Given the description of an element on the screen output the (x, y) to click on. 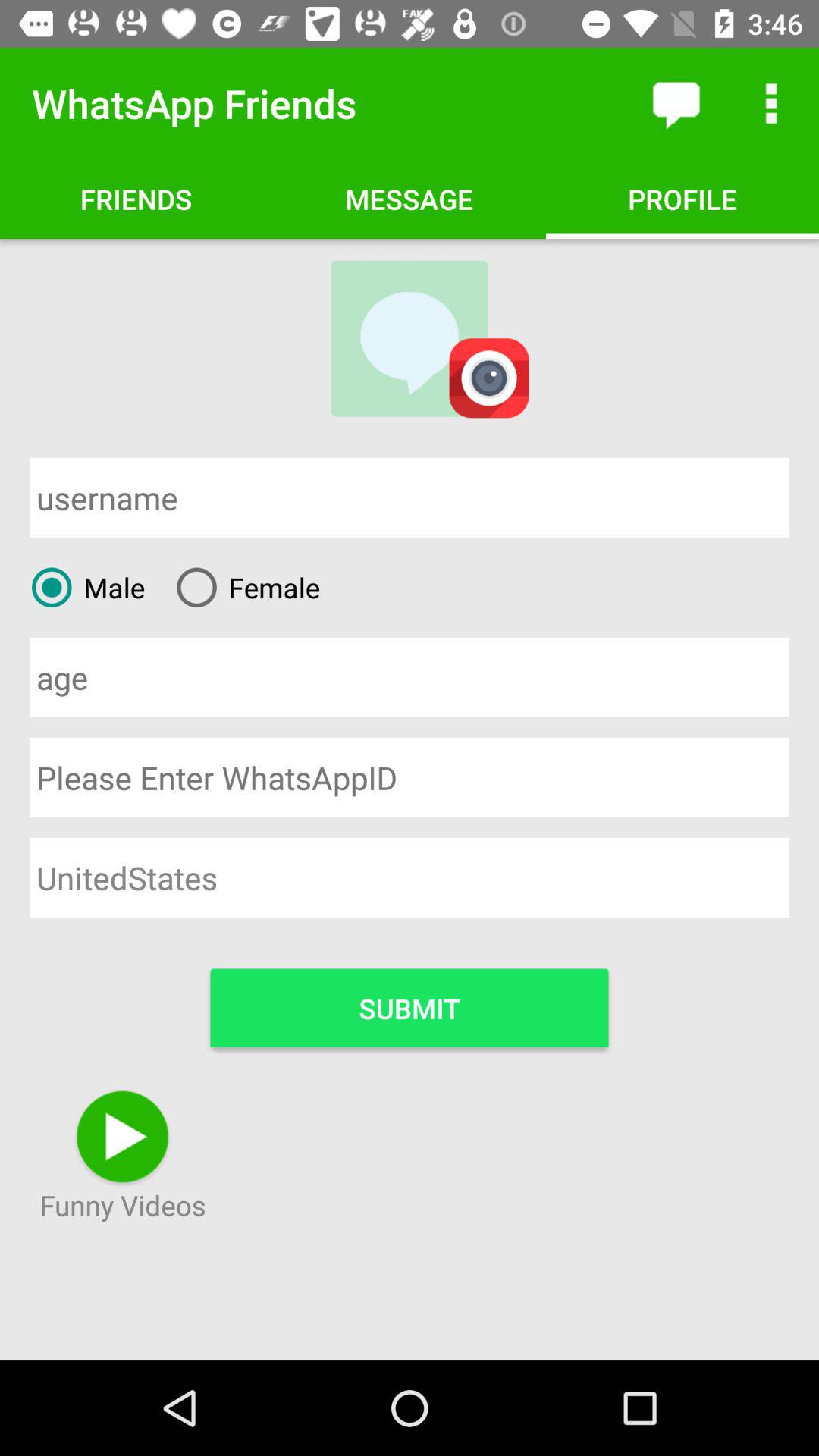
click the item to the right of the whatsapp friends (675, 103)
